Given the description of an element on the screen output the (x, y) to click on. 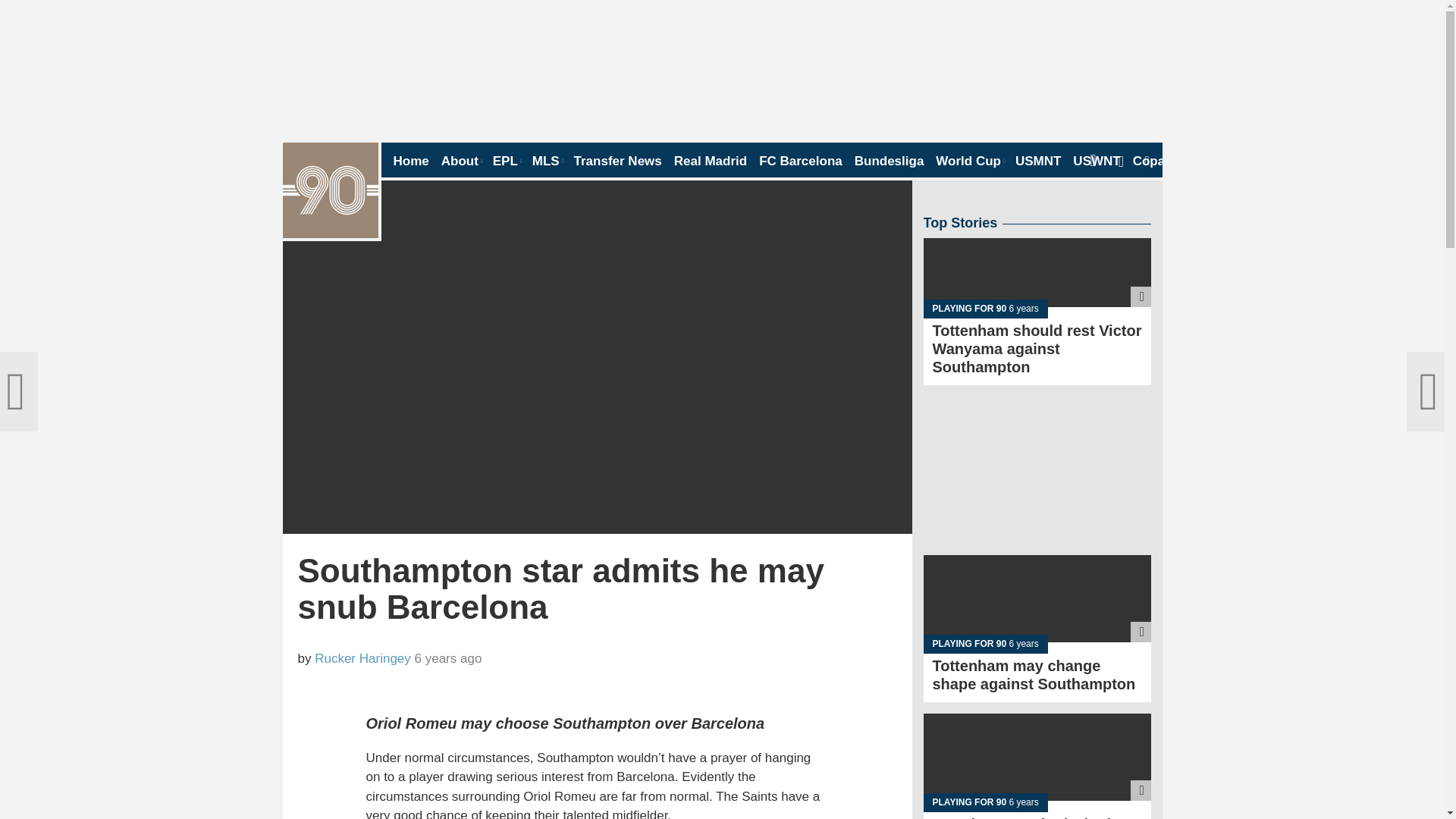
Manchester United win the EFL Cup (1037, 766)
EPL (506, 160)
Tottenham should rest Victor Wanyama against Southampton (1037, 298)
Tottenham may change shape against Southampton (1037, 615)
Home (410, 160)
About (460, 160)
MLS (547, 160)
